Given the description of an element on the screen output the (x, y) to click on. 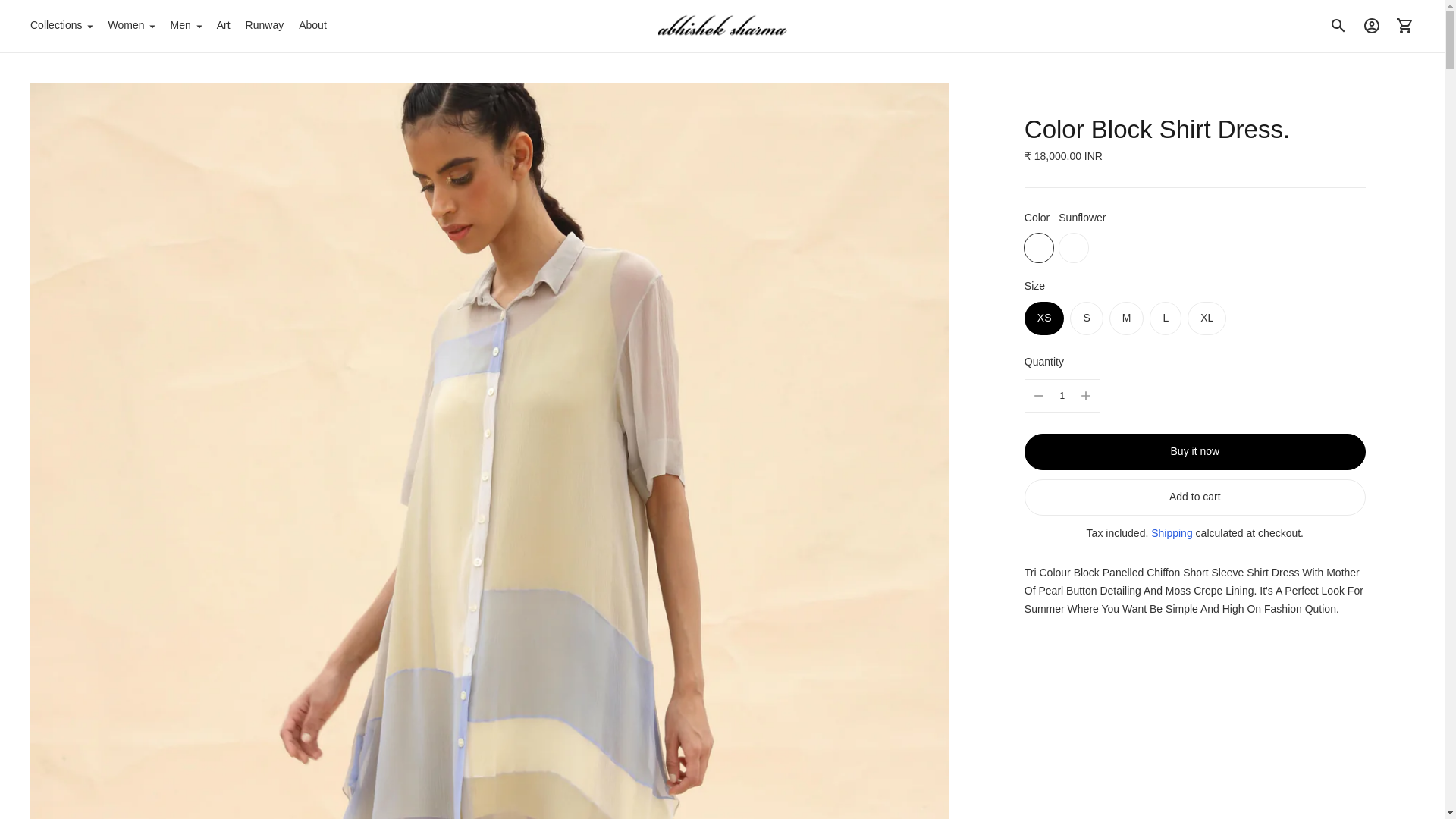
Men (185, 25)
Account (1372, 25)
Cart (1405, 25)
Collections (61, 25)
Search (1338, 25)
Women (130, 25)
Runway (264, 25)
